Given the description of an element on the screen output the (x, y) to click on. 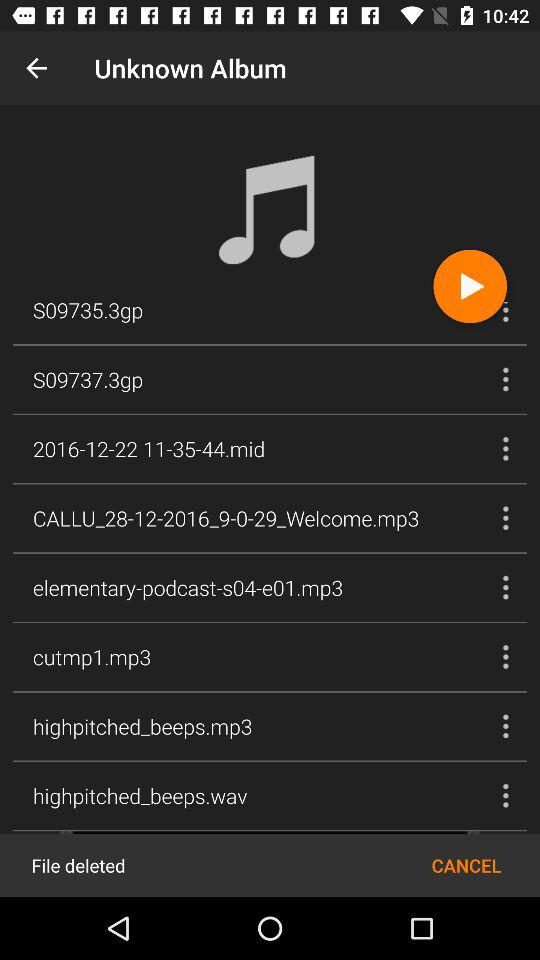
this section allows you to cancel the play or delete the file entirely (270, 864)
